Given the description of an element on the screen output the (x, y) to click on. 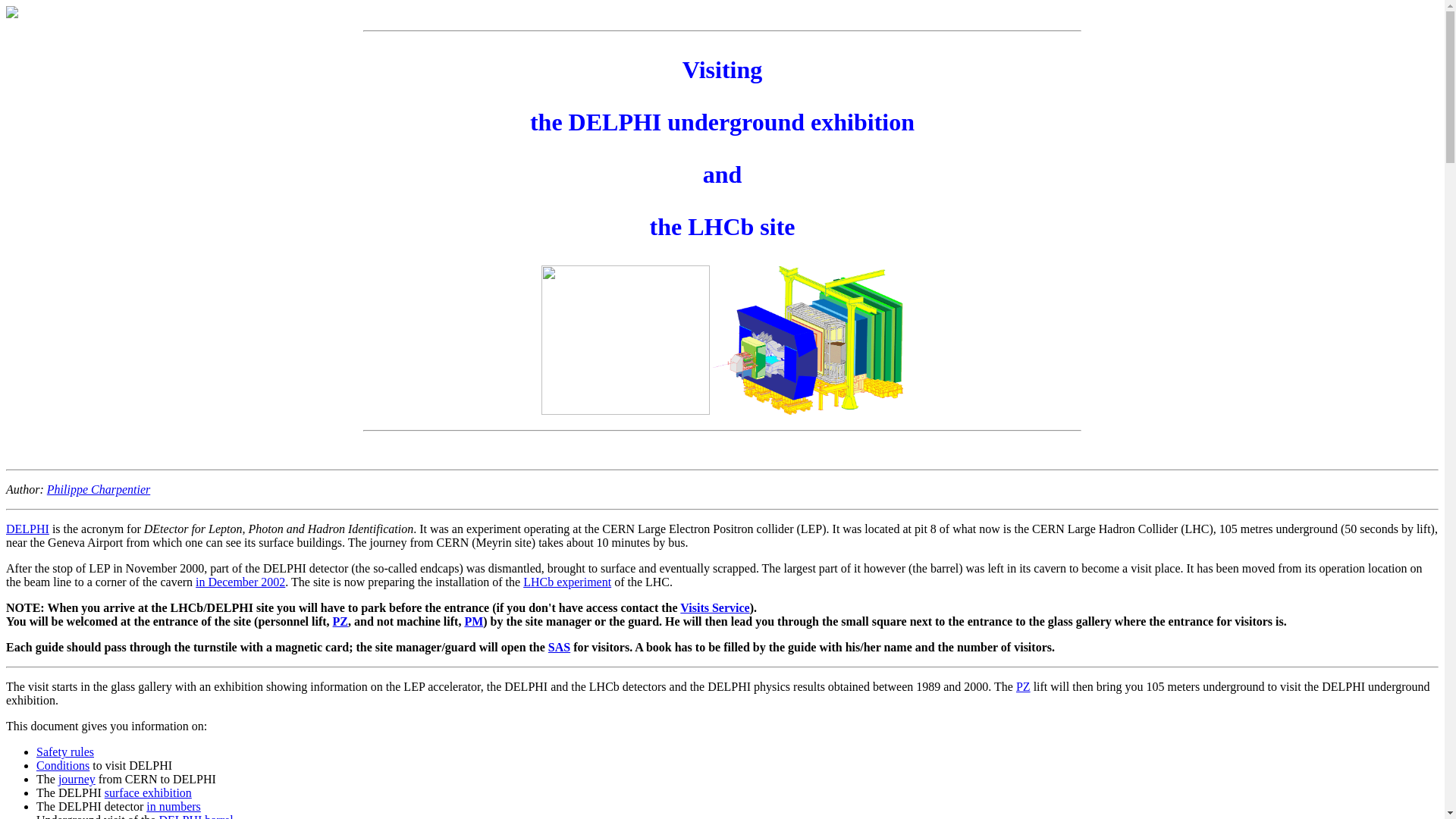
Safety rules Element type: text (65, 751)
journey Element type: text (76, 778)
DELPHI Element type: text (27, 528)
PZ Element type: text (1023, 686)
in December 2002 Element type: text (240, 581)
Conditions Element type: text (62, 765)
in numbers Element type: text (173, 806)
Philippe Charpentier Element type: text (98, 489)
LHCb experiment Element type: text (567, 581)
PM Element type: text (473, 621)
SAS Element type: text (559, 646)
Visits Service Element type: text (714, 607)
PZ Element type: text (340, 621)
surface exhibition Element type: text (147, 792)
